Given the description of an element on the screen output the (x, y) to click on. 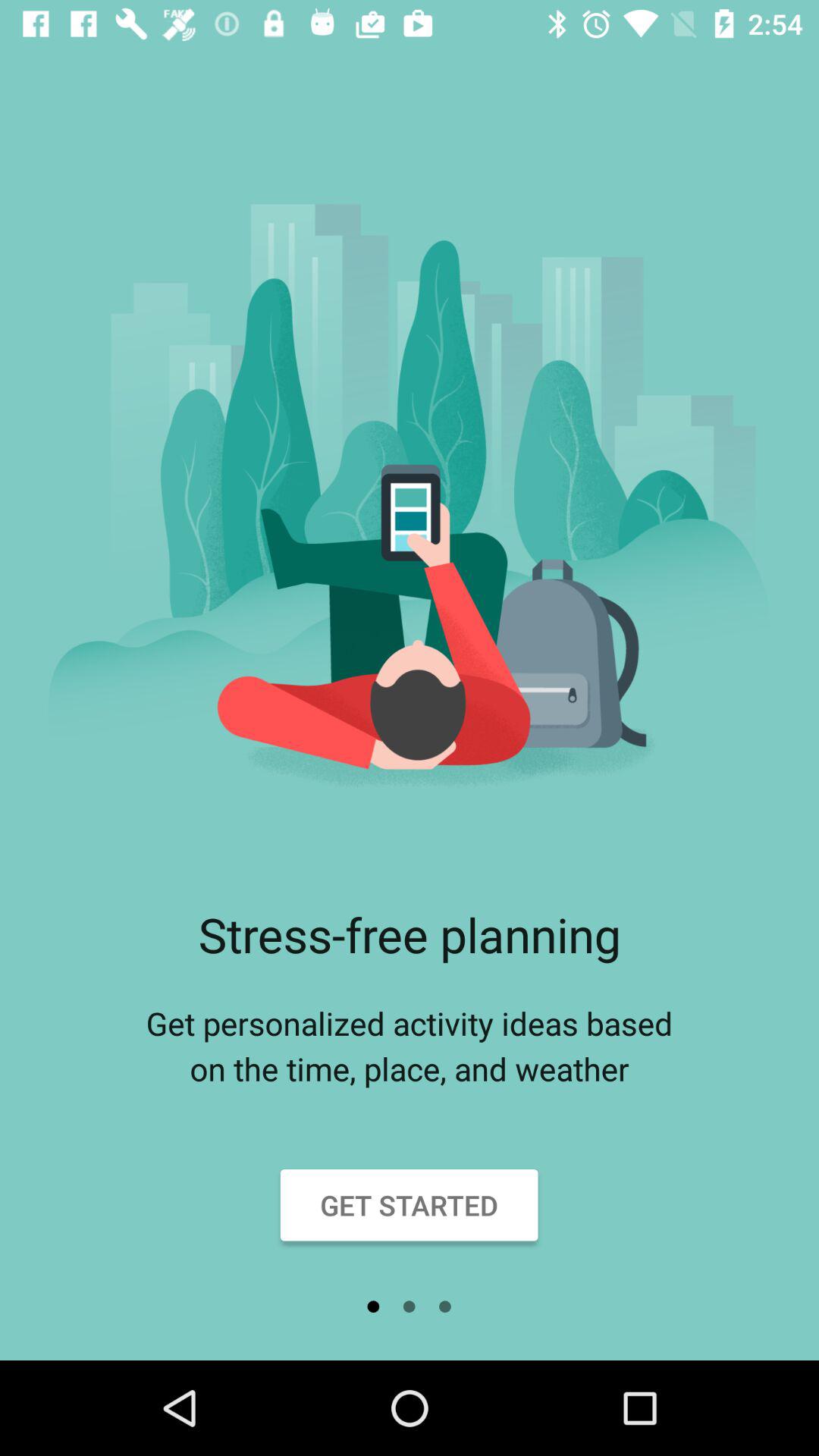
turn on the get started item (409, 1204)
